Given the description of an element on the screen output the (x, y) to click on. 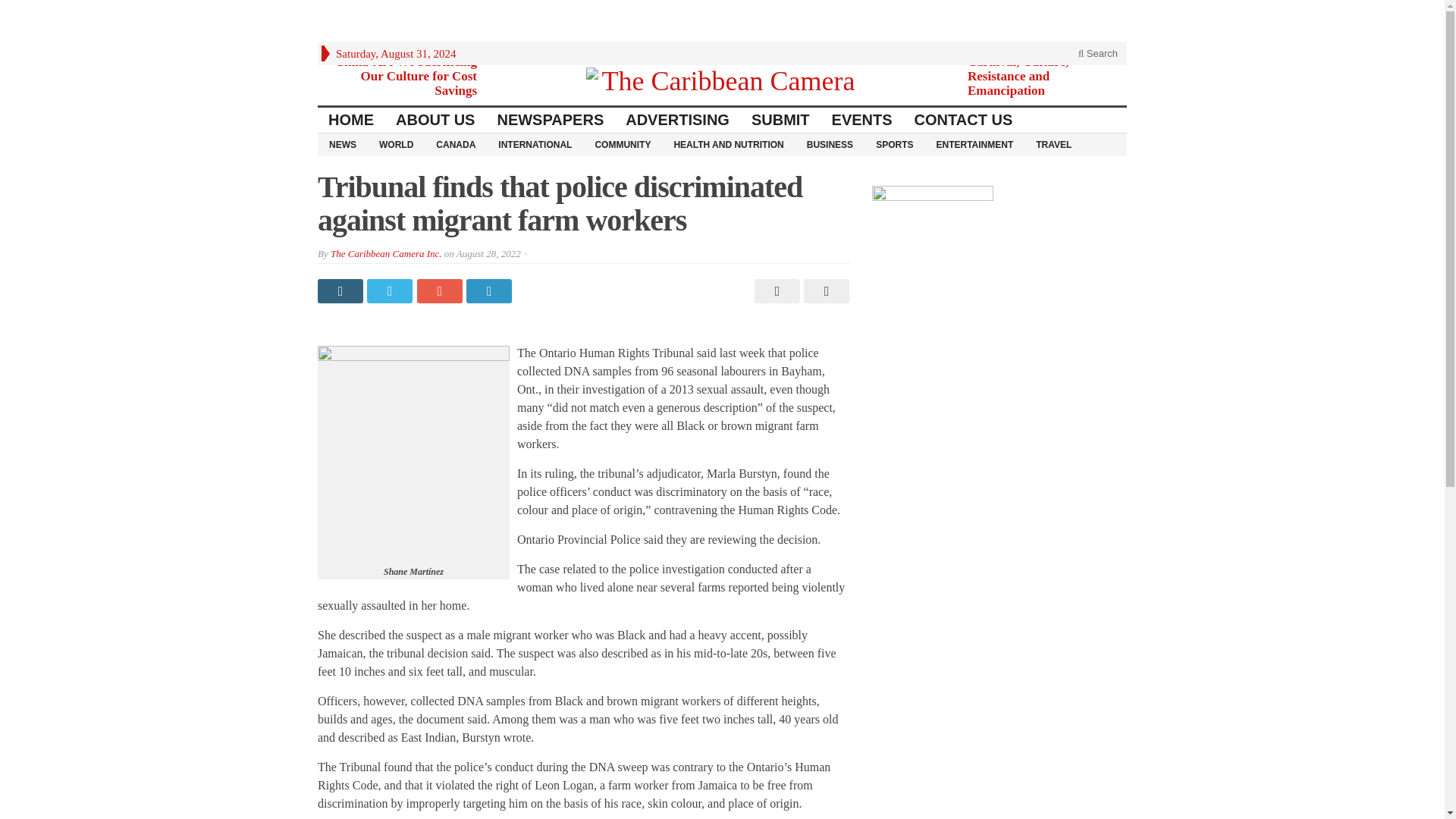
Carnival, Culture, Resistance and Emancipation (1018, 75)
Share on Facebook (341, 291)
NEWSPAPERS (550, 119)
SUBMIT (781, 119)
Print This Post (775, 291)
Send by Email (823, 291)
Search (1097, 53)
WORLD (396, 143)
Many People One Magazine (722, 81)
